Given the description of an element on the screen output the (x, y) to click on. 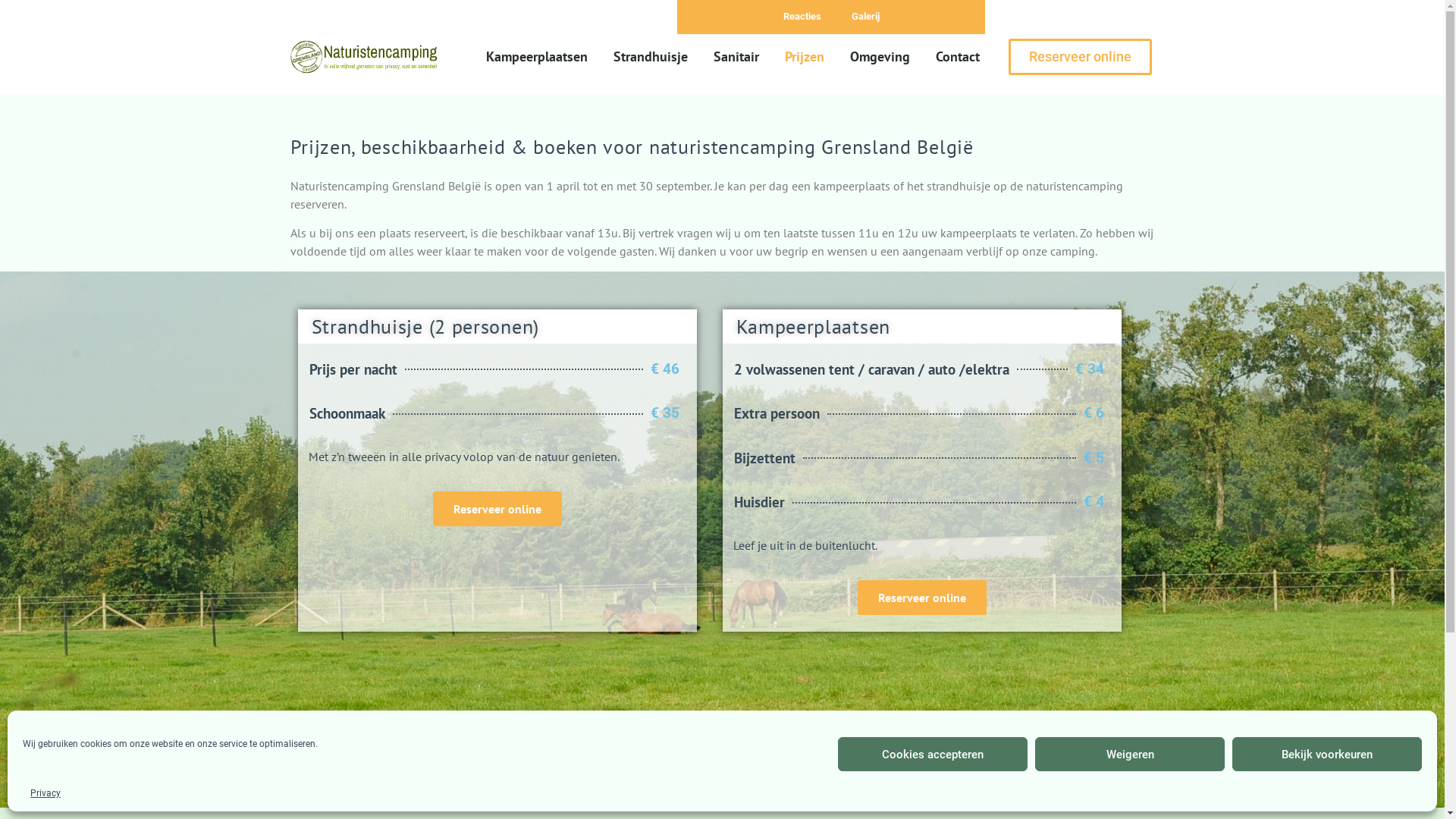
Privacy Element type: text (45, 793)
Kampeerplaatsen Element type: text (536, 56)
Contact Element type: text (957, 56)
Omgeving Element type: text (879, 56)
Reserveer online Element type: text (1079, 56)
Reserveer online Element type: text (496, 508)
Strandhuisje Element type: text (650, 56)
Cookies accepteren Element type: text (932, 754)
Prijzen Element type: text (804, 56)
Sanitair Element type: text (735, 56)
Weigeren Element type: text (1129, 754)
Reserveer online Element type: text (920, 597)
Bekijk voorkeuren Element type: text (1326, 754)
